Given the description of an element on the screen output the (x, y) to click on. 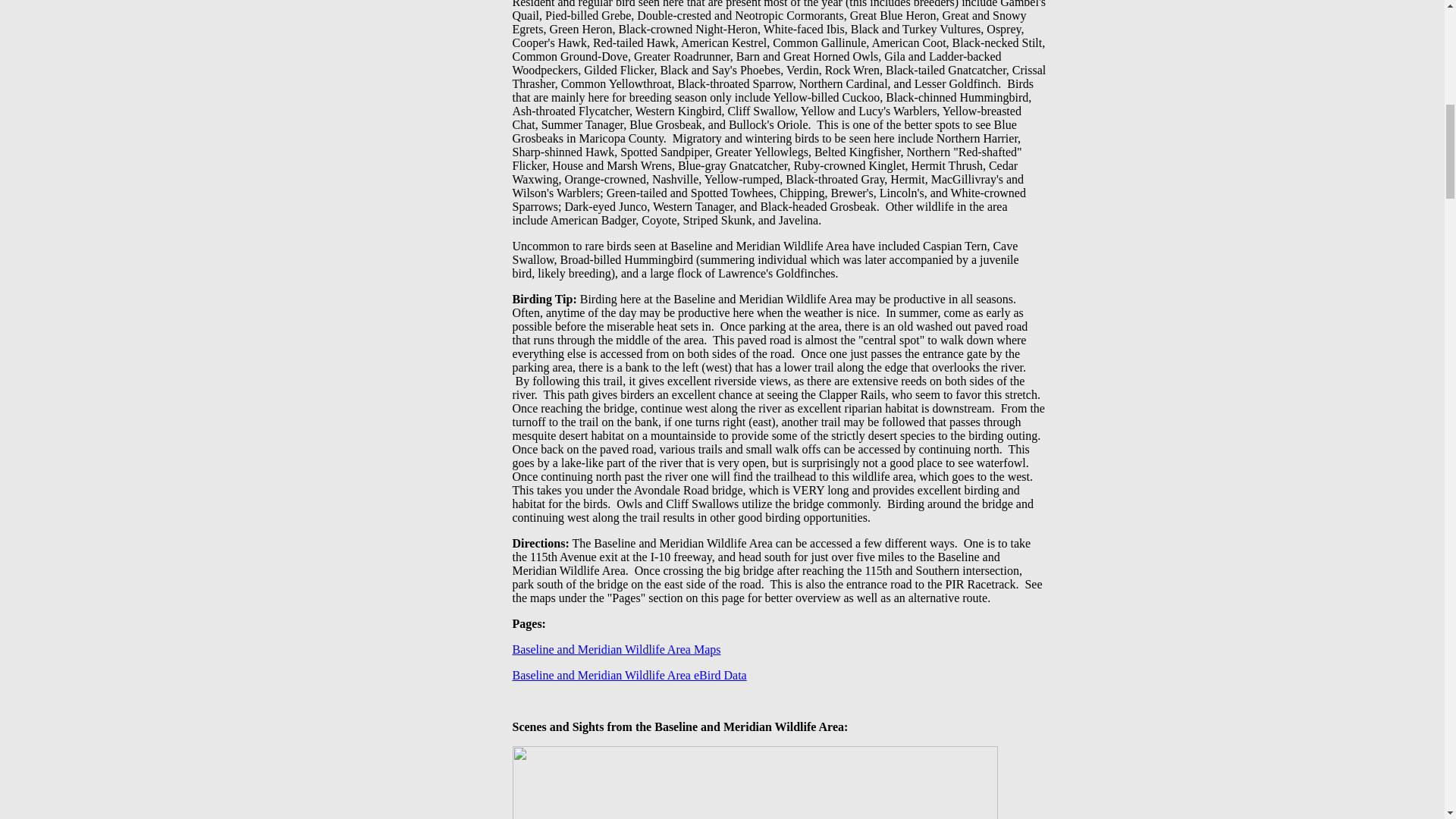
Baseline and Meridian Wildlife Area Maps (616, 649)
Baseline and Meridian Wildlife Area eBird Data (629, 675)
